Given the description of an element on the screen output the (x, y) to click on. 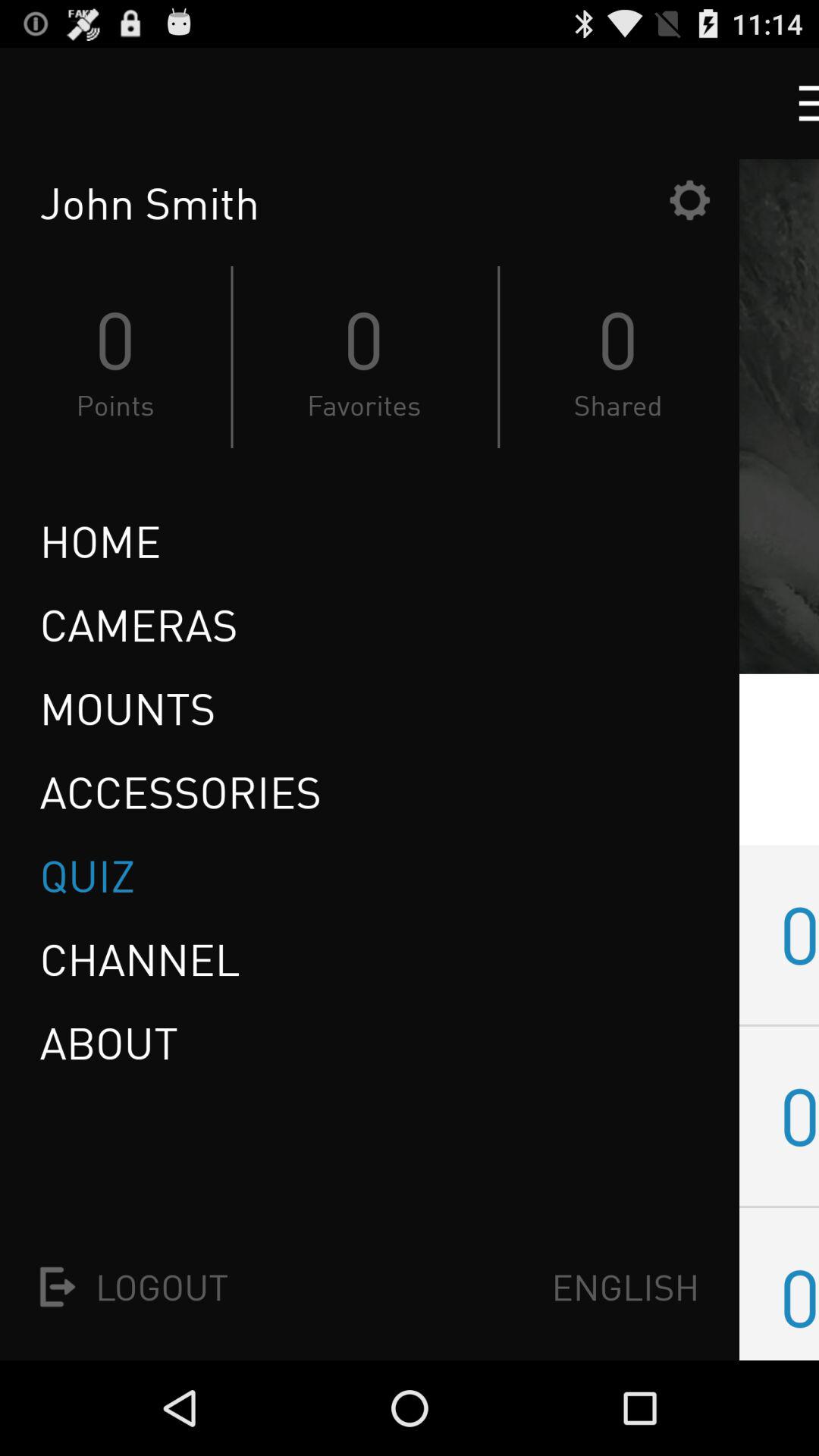
tap icon below the mounts icon (180, 792)
